Given the description of an element on the screen output the (x, y) to click on. 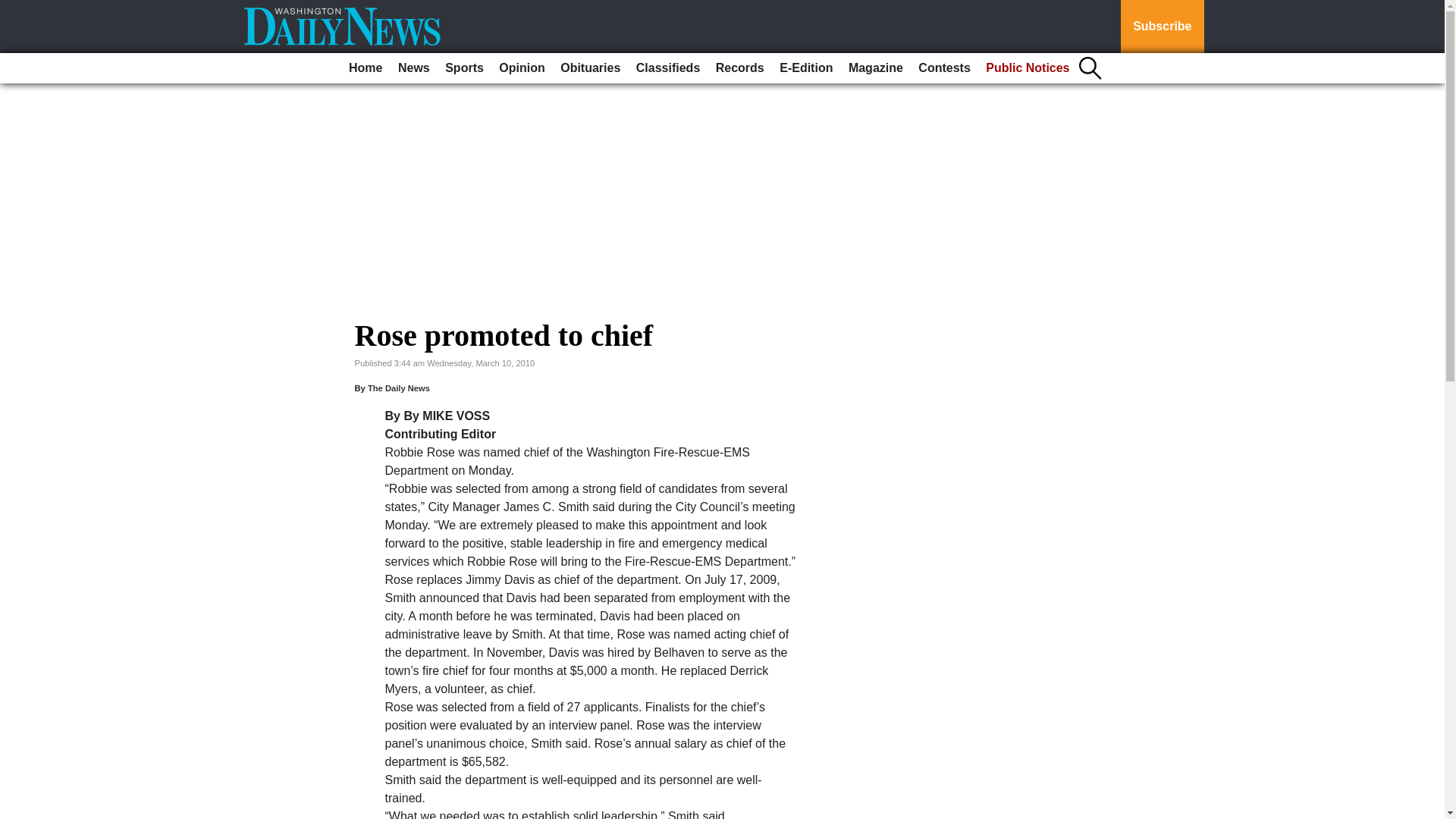
Contests (943, 68)
Magazine (875, 68)
Home (365, 68)
Go (13, 9)
The Daily News (398, 388)
News (413, 68)
Sports (464, 68)
Obituaries (590, 68)
Records (740, 68)
Subscribe (1162, 26)
Classifieds (668, 68)
E-Edition (805, 68)
Public Notices (1027, 68)
Opinion (521, 68)
